Given the description of an element on the screen output the (x, y) to click on. 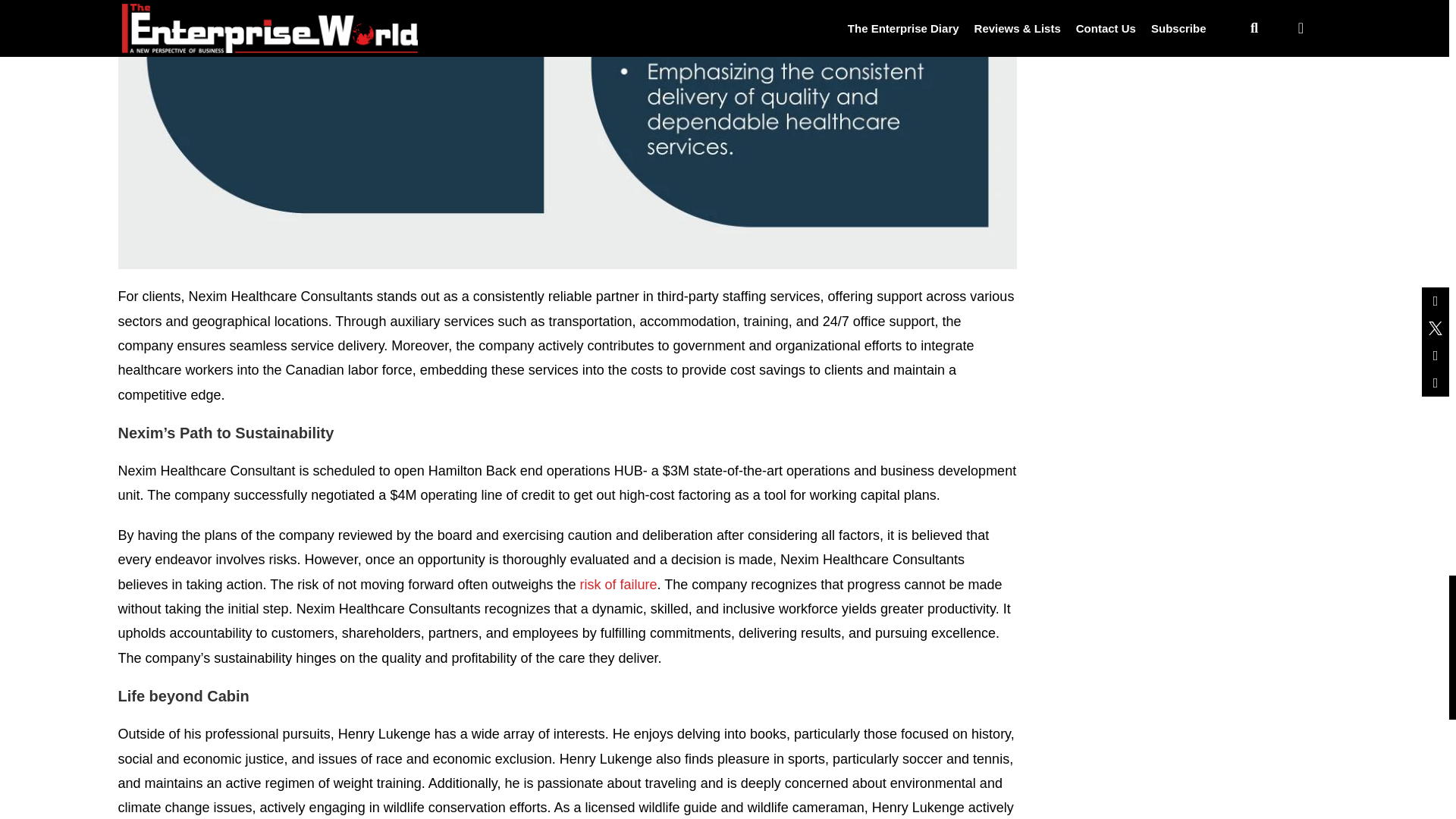
risk of failure (618, 584)
